Given the description of an element on the screen output the (x, y) to click on. 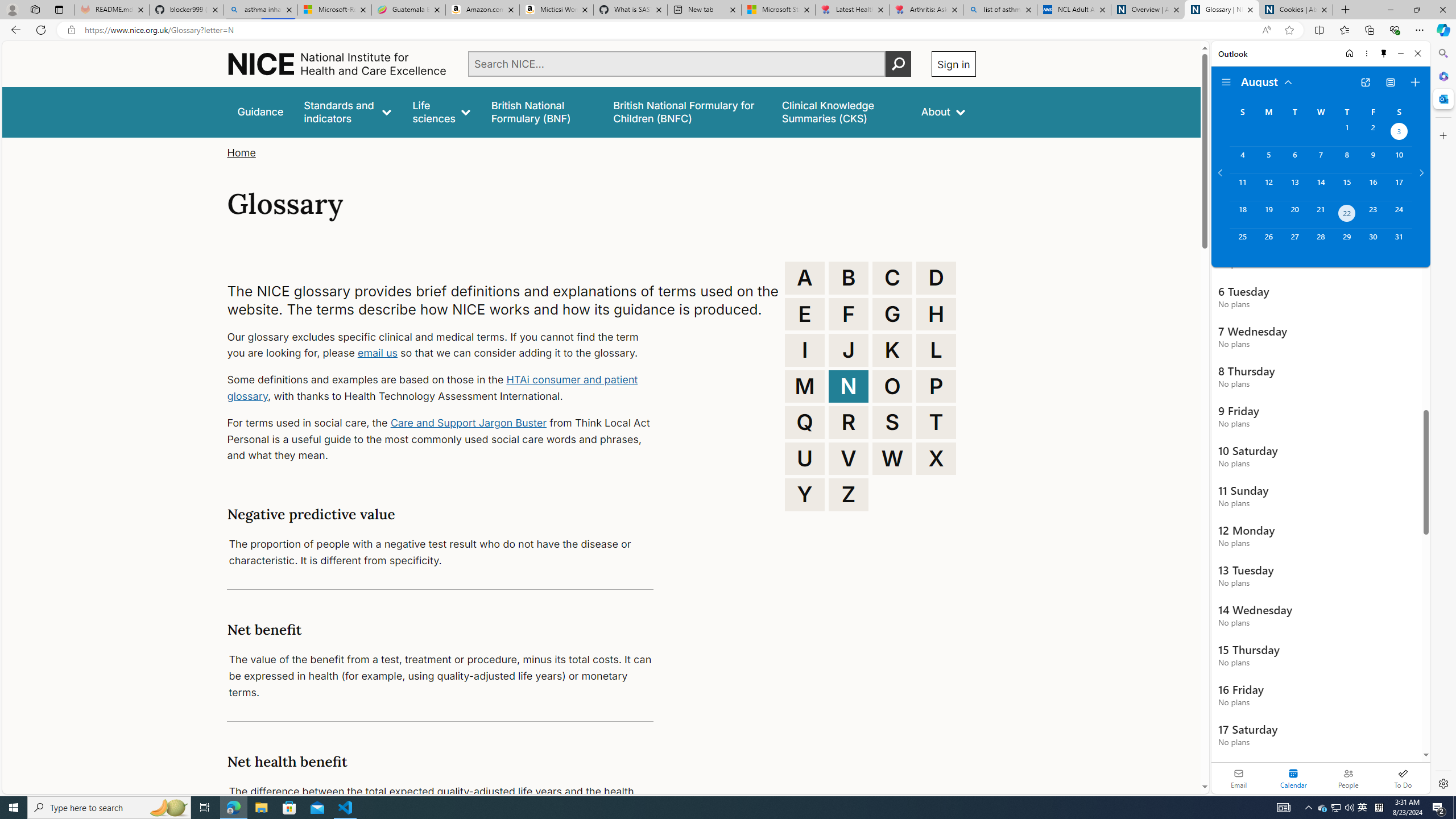
B (848, 277)
Monday, August 5, 2024.  (1268, 159)
E (804, 313)
Microsoft Start (777, 9)
M (804, 385)
asthma inhaler - Search (260, 9)
W (892, 458)
D (935, 277)
K (892, 350)
Monday, August 12, 2024.  (1268, 186)
